Given the description of an element on the screen output the (x, y) to click on. 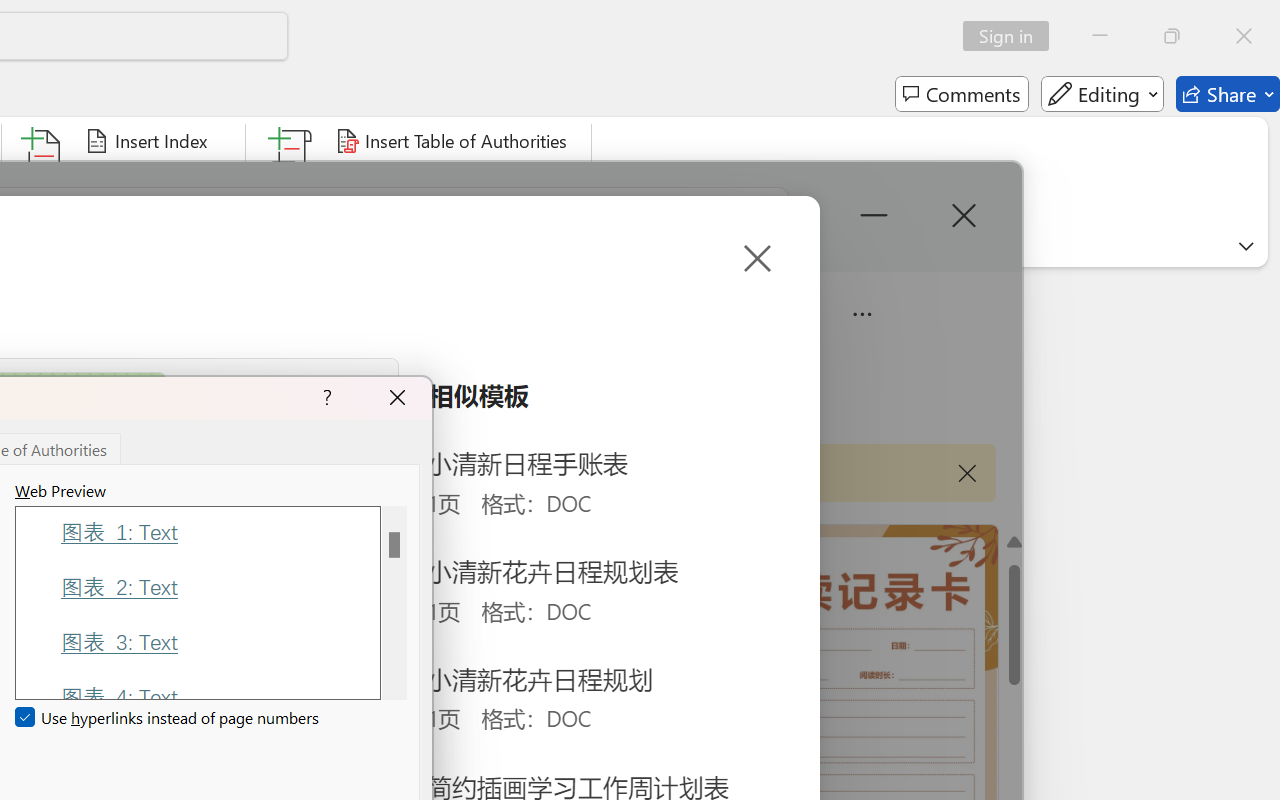
Insert Index... (149, 141)
Use hyperlinks instead of page numbers (168, 717)
Mark Entry... (44, 179)
